Given the description of an element on the screen output the (x, y) to click on. 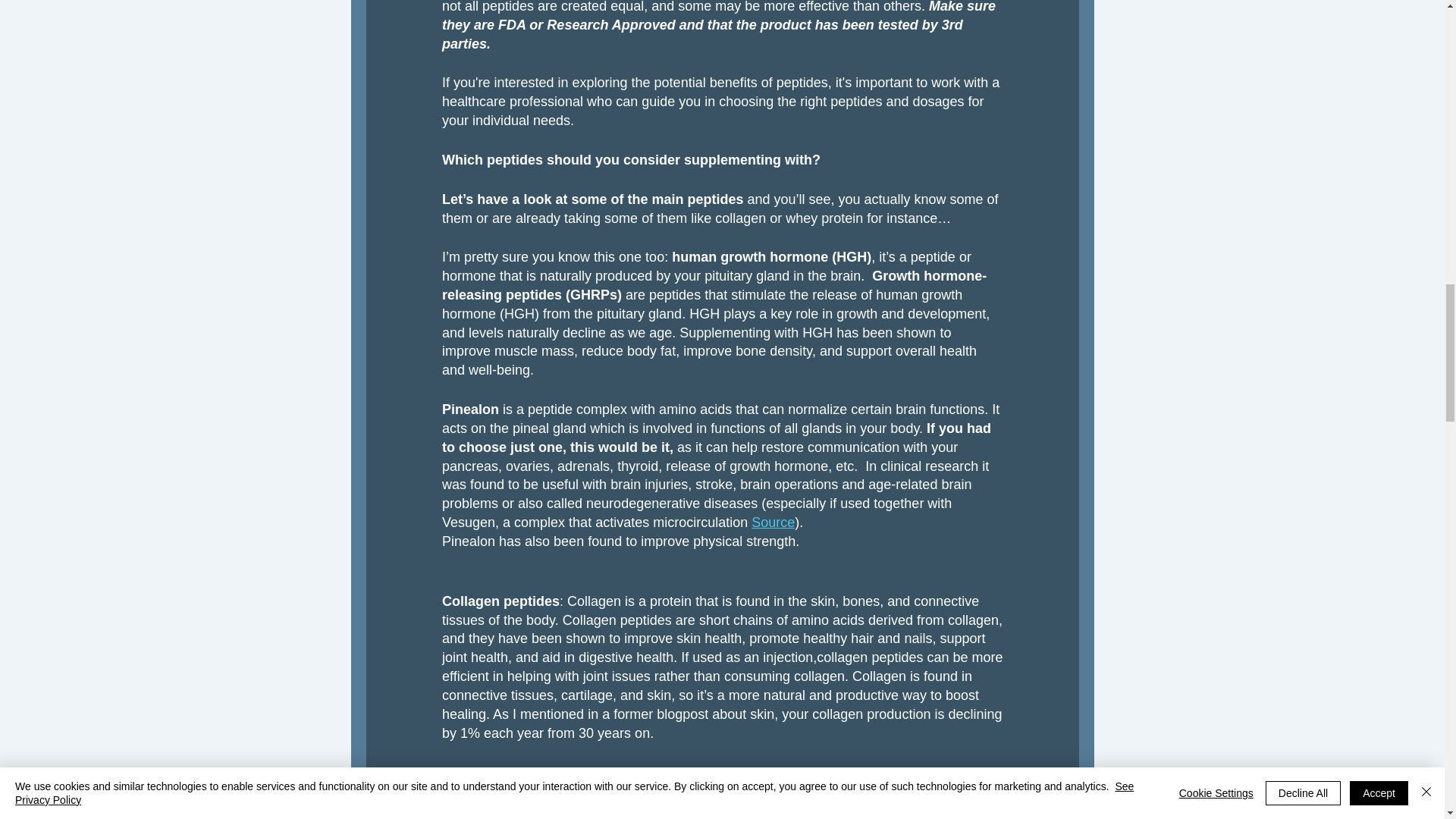
Source (772, 522)
